Given the description of an element on the screen output the (x, y) to click on. 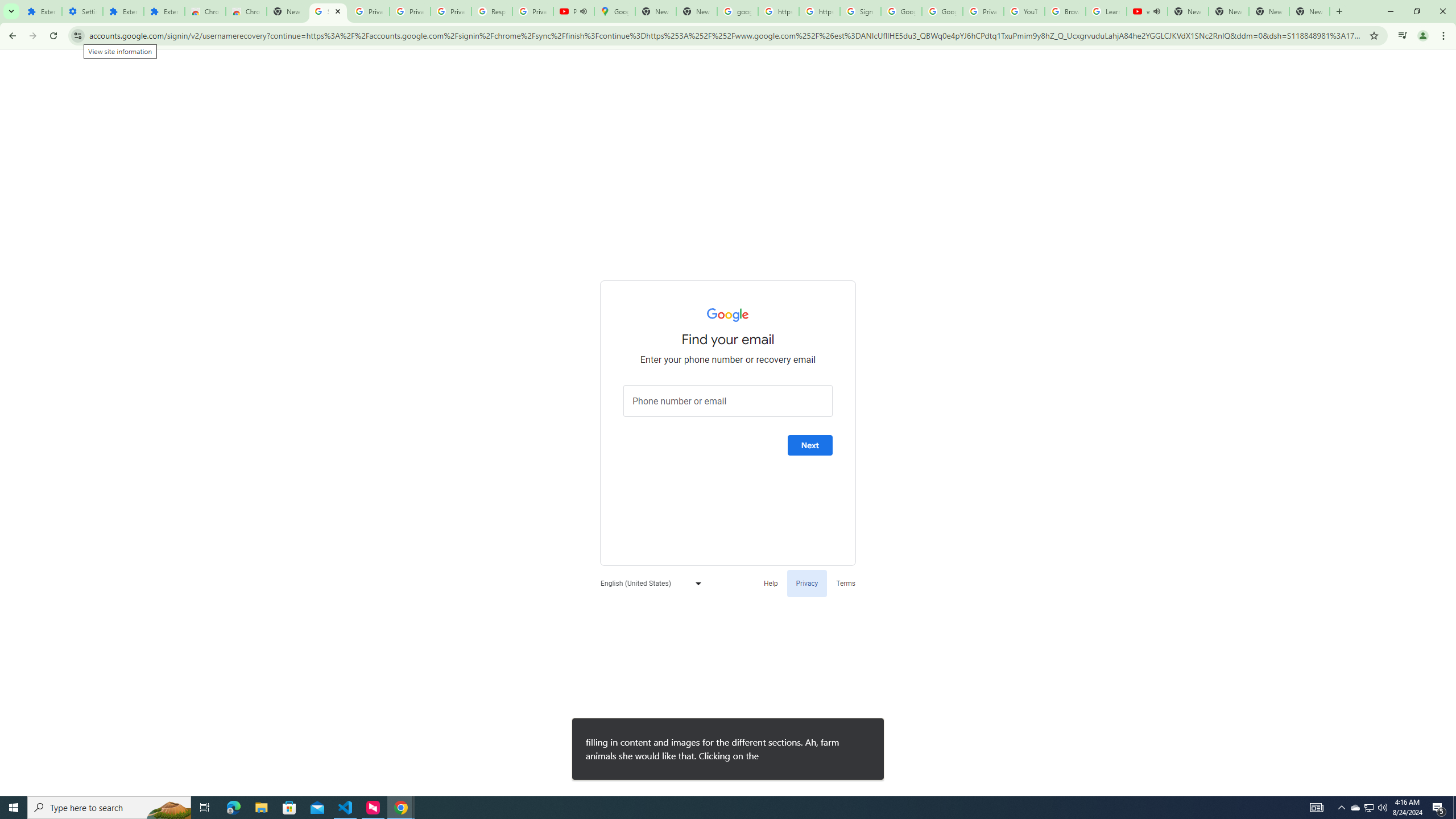
Control your music, videos, and more (1402, 35)
New Tab (1228, 11)
Chrome Web Store - Themes (246, 11)
Phone number or email (727, 400)
Next (809, 445)
https://scholar.google.com/ (818, 11)
New Tab (1309, 11)
